Given the description of an element on the screen output the (x, y) to click on. 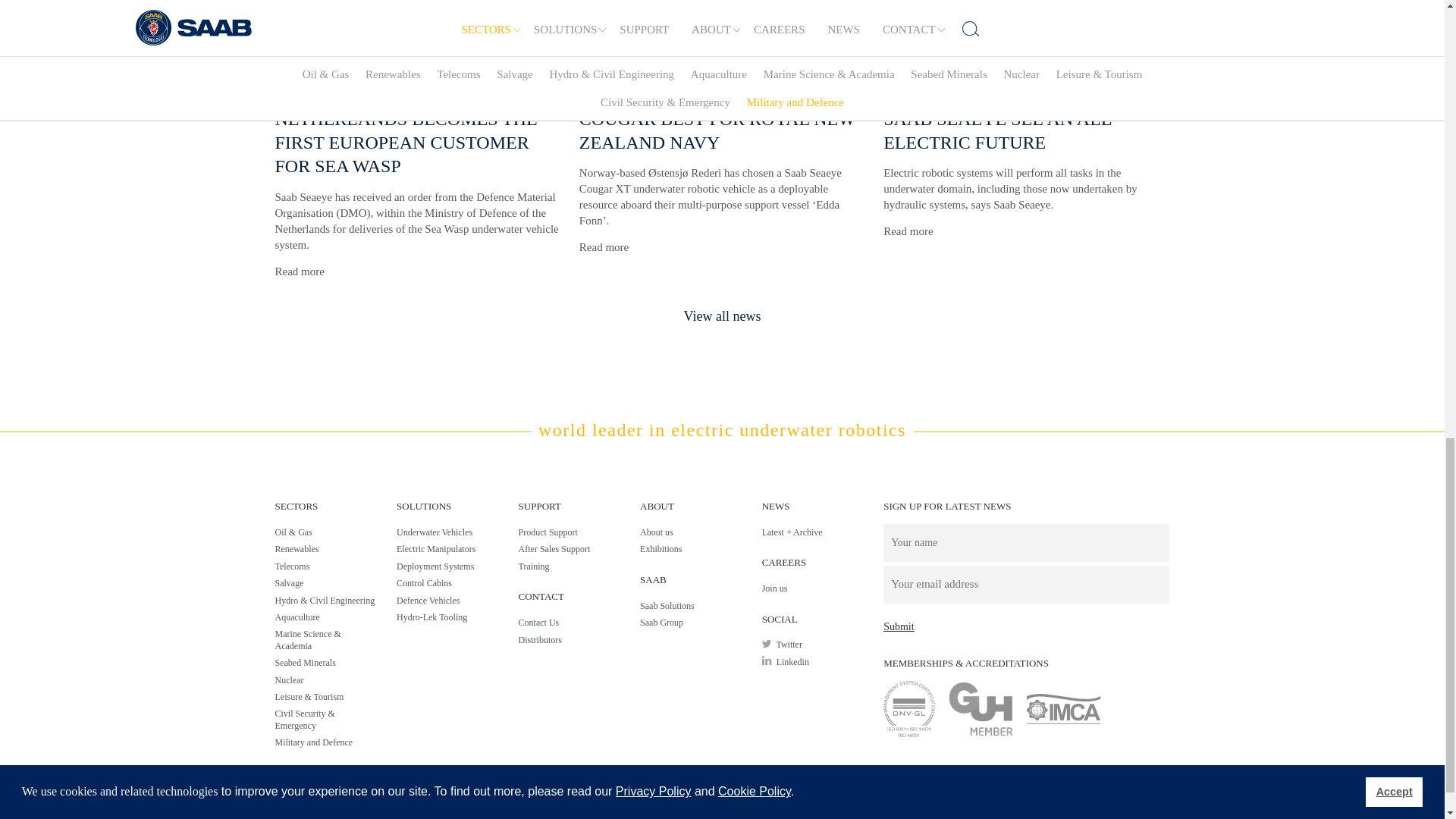
Submit (898, 626)
